Given the description of an element on the screen output the (x, y) to click on. 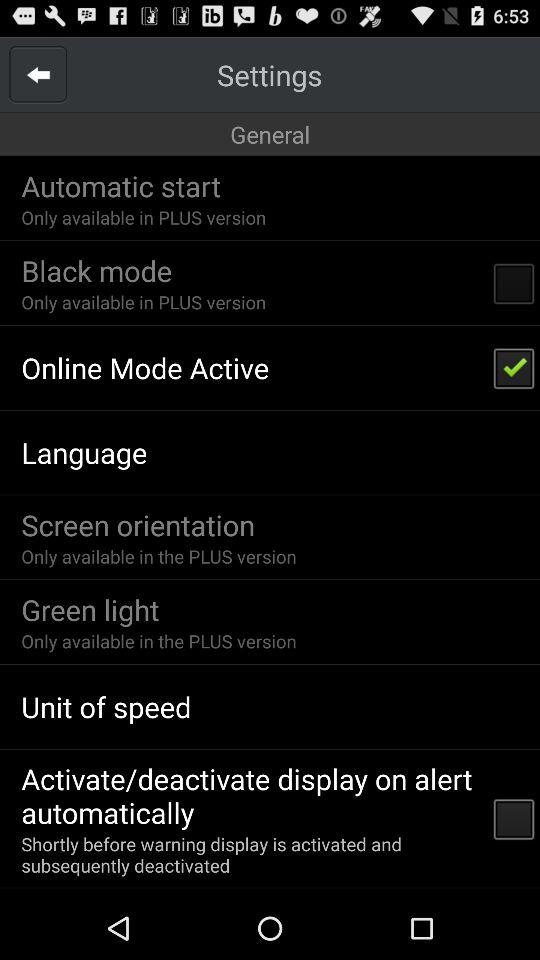
click on the second check box (513, 367)
